Given the description of an element on the screen output the (x, y) to click on. 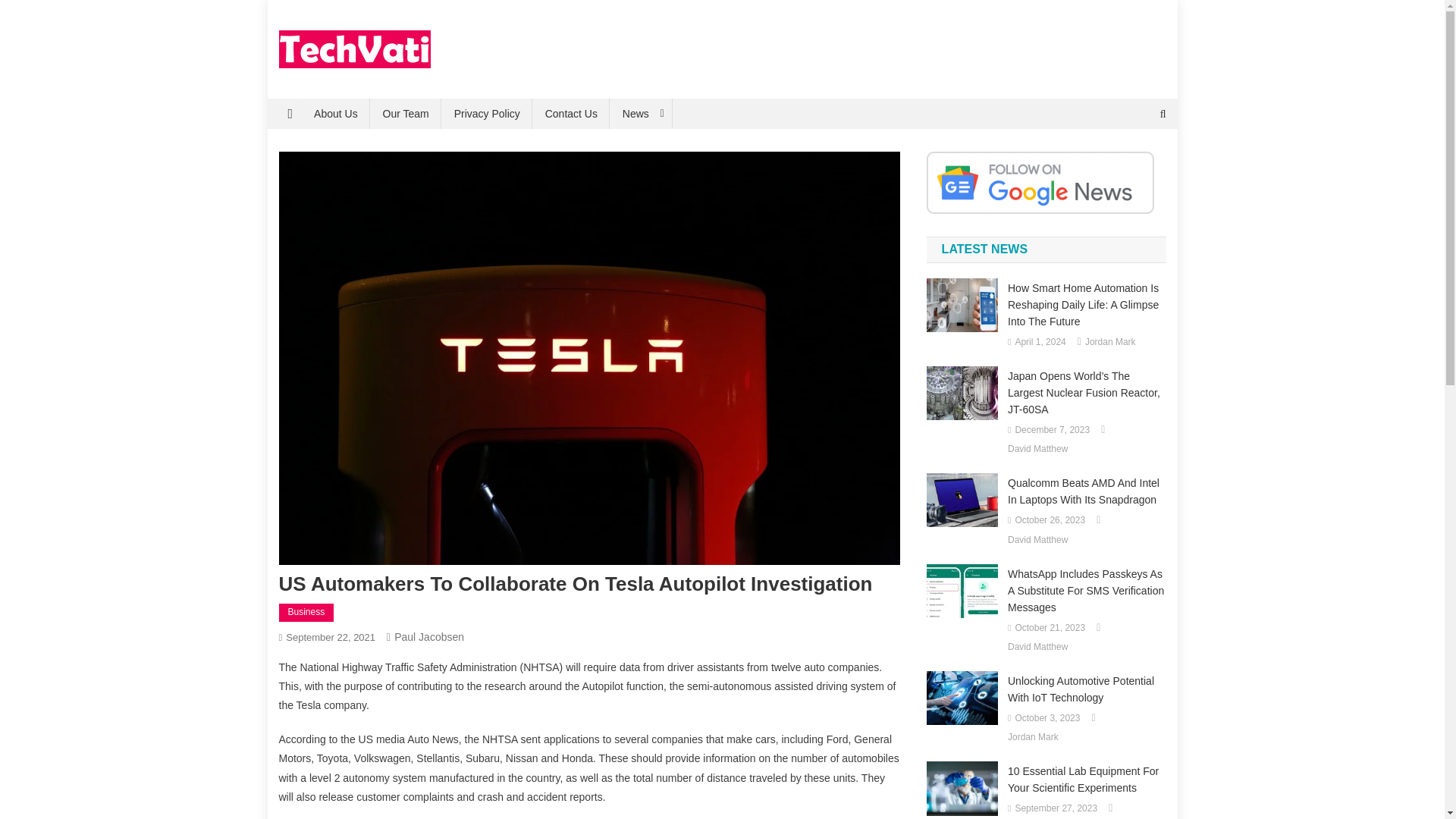
Search (1133, 164)
September 22, 2021 (330, 636)
About Us (335, 113)
News (641, 113)
Paul Jacobsen (429, 636)
Business (306, 612)
Our Team (406, 113)
Contact Us (571, 113)
TechVati (328, 83)
Privacy Policy (487, 113)
